Given the description of an element on the screen output the (x, y) to click on. 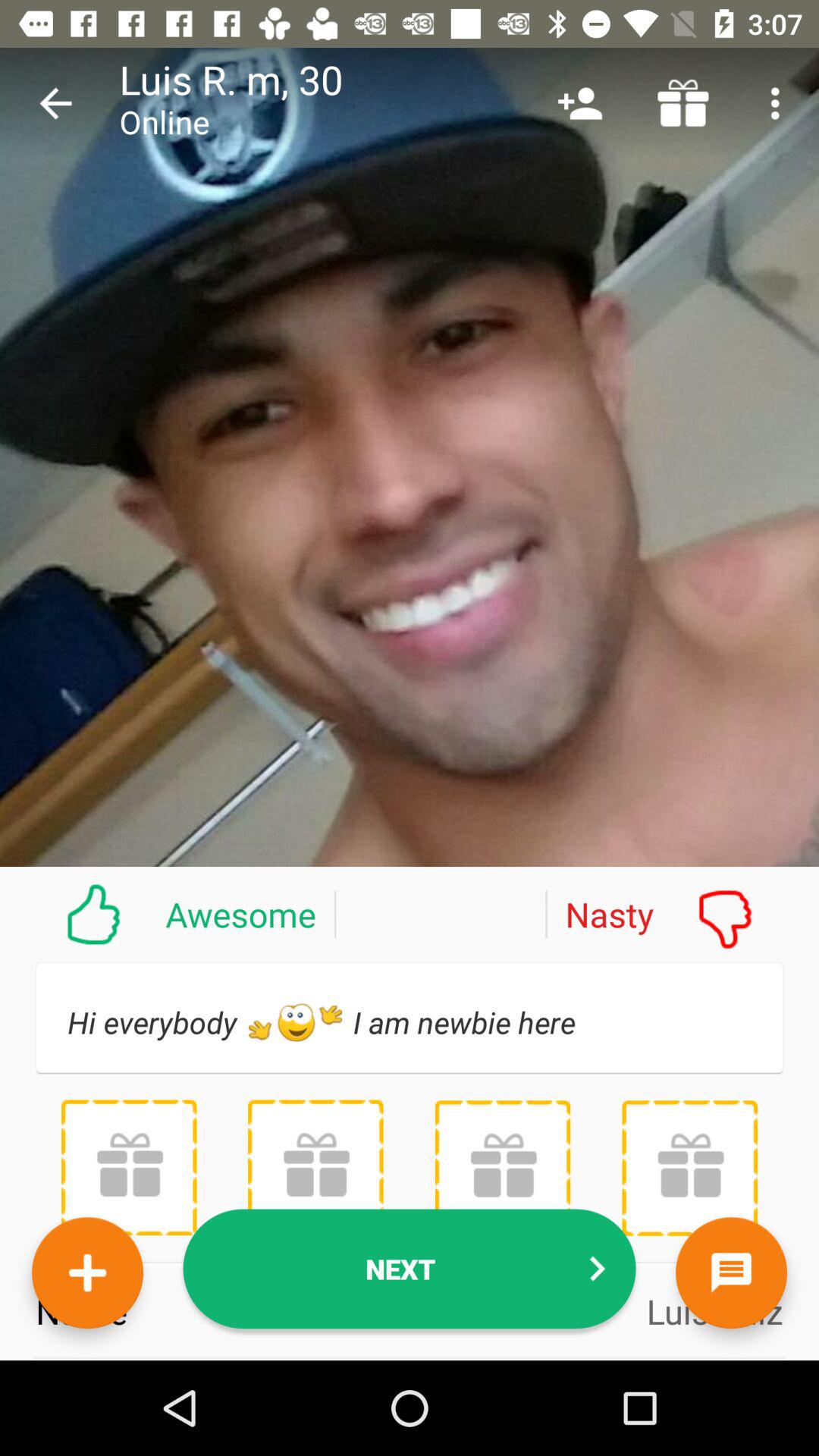
message user (731, 1272)
